Given the description of an element on the screen output the (x, y) to click on. 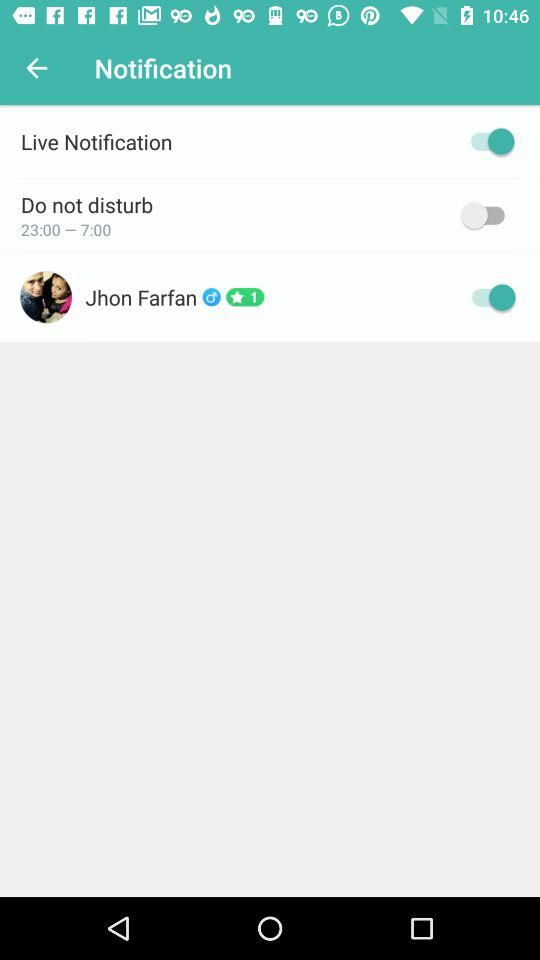
toggle live notification option (487, 141)
